Given the description of an element on the screen output the (x, y) to click on. 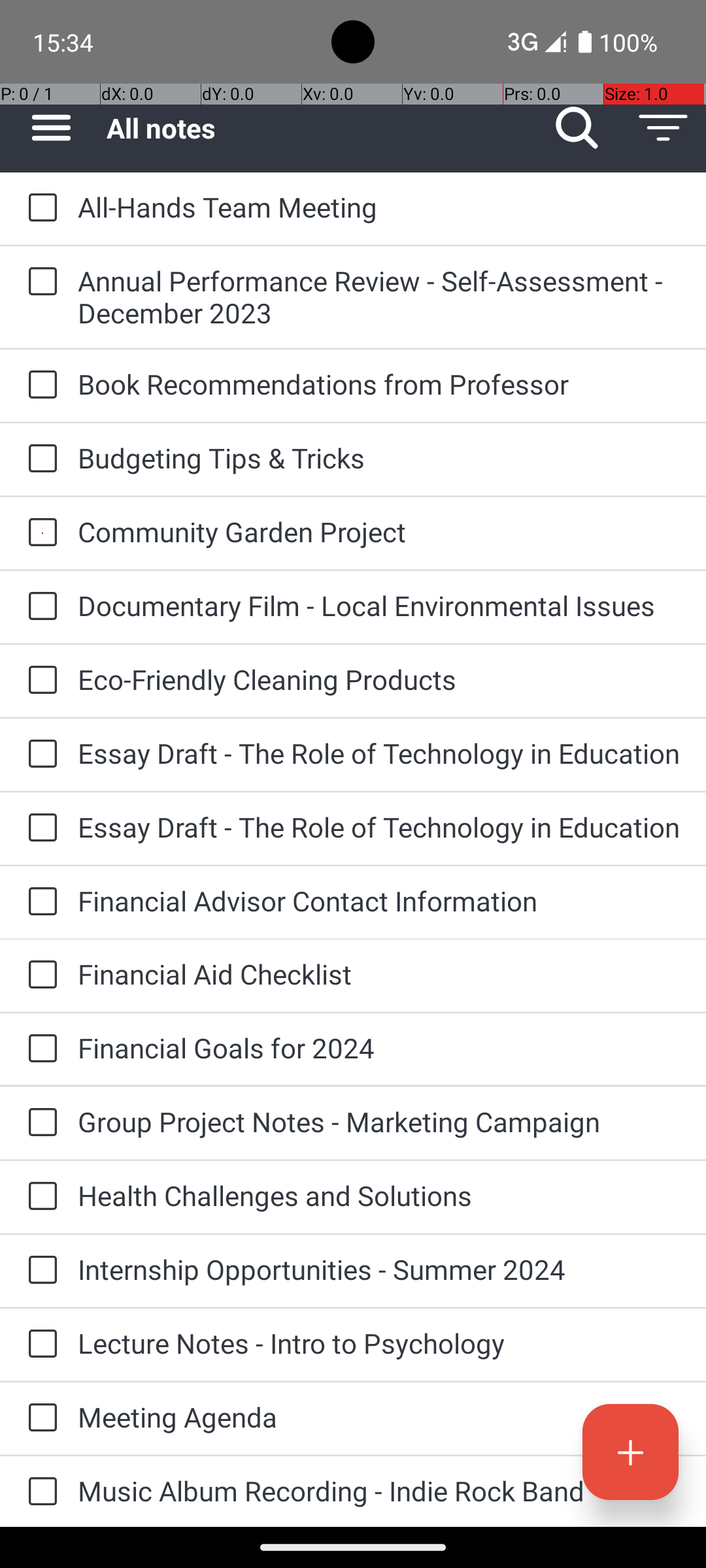
Sidebar Element type: android.widget.Button (44, 127)
All notes Element type: android.widget.TextView (320, 127)
Sort notes by Element type: android.widget.Button (663, 127)
Add new, collapsed Element type: android.widget.Button (630, 1452)
 Element type: android.widget.TextView (51, 127)
 Element type: android.widget.TextView (576, 127)
 Element type: android.widget.TextView (663, 127)
 Element type: android.widget.TextView (630, 1451)
to-do: All-Hands Team Meeting Element type: android.widget.CheckBox (38, 208)
All-Hands Team Meeting Element type: android.widget.TextView (378, 206)
to-do: Annual Performance Review - Self-Assessment - December 2023 Element type: android.widget.CheckBox (38, 282)
Annual Performance Review - Self-Assessment - December 2023 Element type: android.widget.TextView (378, 296)
to-do: Book Recommendations from Professor Element type: android.widget.CheckBox (38, 385)
Book Recommendations from Professor Element type: android.widget.TextView (378, 383)
to-do: Budgeting Tips & Tricks Element type: android.widget.CheckBox (38, 459)
Budgeting Tips & Tricks Element type: android.widget.TextView (378, 457)
to-do: Community Garden Project Element type: android.widget.CheckBox (38, 533)
Community Garden Project Element type: android.widget.TextView (378, 531)
to-do: Documentary Film - Local Environmental Issues Element type: android.widget.CheckBox (38, 606)
Documentary Film - Local Environmental Issues Element type: android.widget.TextView (378, 604)
to-do: Eco-Friendly Cleaning Products Element type: android.widget.CheckBox (38, 680)
Eco-Friendly Cleaning Products Element type: android.widget.TextView (378, 678)
to-do: Essay Draft - The Role of Technology in Education Element type: android.widget.CheckBox (38, 754)
Essay Draft - The Role of Technology in Education Element type: android.widget.TextView (378, 752)
to-do: Financial Advisor Contact Information Element type: android.widget.CheckBox (38, 902)
Financial Advisor Contact Information Element type: android.widget.TextView (378, 900)
to-do: Financial Aid Checklist Element type: android.widget.CheckBox (38, 975)
Financial Aid Checklist Element type: android.widget.TextView (378, 973)
to-do: Financial Goals for 2024 Element type: android.widget.CheckBox (38, 1049)
Financial Goals for 2024 Element type: android.widget.TextView (378, 1047)
to-do: Group Project Notes - Marketing Campaign Element type: android.widget.CheckBox (38, 1123)
Group Project Notes - Marketing Campaign Element type: android.widget.TextView (378, 1121)
to-do: Health Challenges and Solutions Element type: android.widget.CheckBox (38, 1196)
Health Challenges and Solutions Element type: android.widget.TextView (378, 1194)
to-do: Internship Opportunities - Summer 2024 Element type: android.widget.CheckBox (38, 1270)
Internship Opportunities - Summer 2024 Element type: android.widget.TextView (378, 1268)
to-do: Lecture Notes - Intro to Psychology Element type: android.widget.CheckBox (38, 1344)
Lecture Notes - Intro to Psychology Element type: android.widget.TextView (378, 1342)
to-do: Meeting Agenda Element type: android.widget.CheckBox (38, 1418)
Meeting Agenda Element type: android.widget.TextView (378, 1416)
to-do: Music Album Recording - Indie Rock Band Element type: android.widget.CheckBox (38, 1491)
Music Album Recording - Indie Rock Band Element type: android.widget.TextView (378, 1490)
 Element type: android.widget.TextView (42, 208)
